Given the description of an element on the screen output the (x, y) to click on. 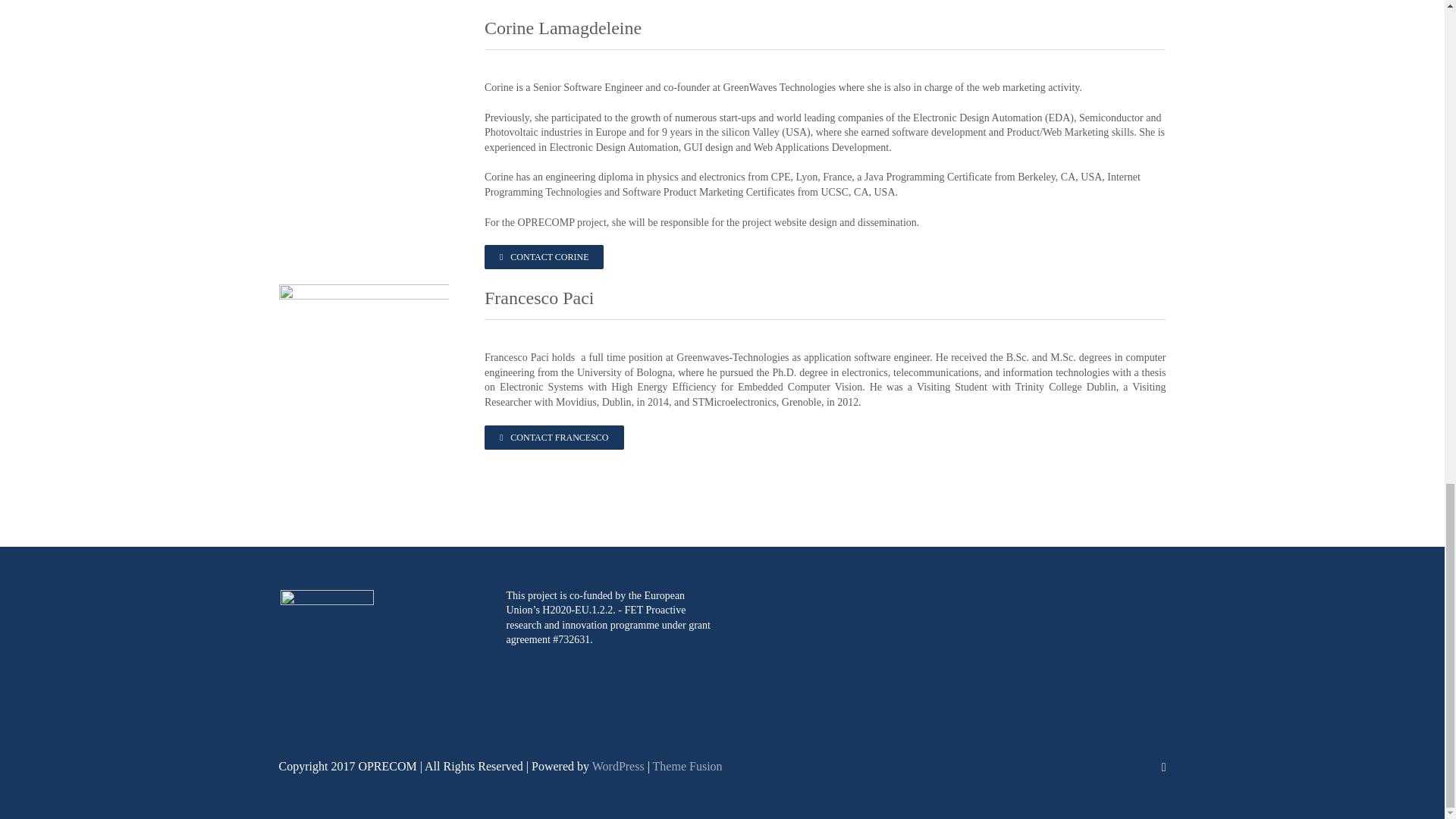
francesco (364, 369)
